Given the description of an element on the screen output the (x, y) to click on. 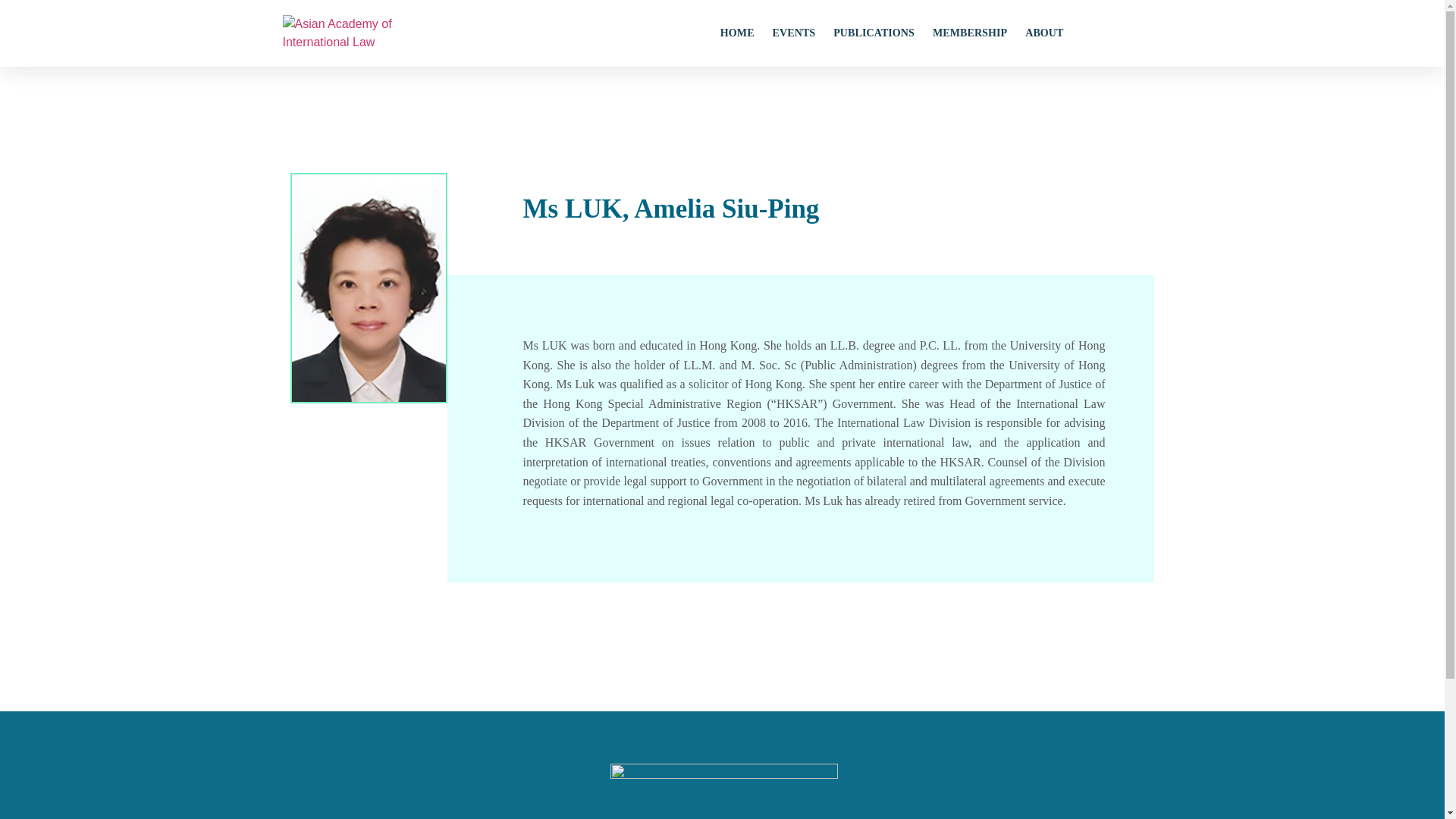
EVENTS (794, 33)
ABOUT (1043, 33)
MEMBERSHIP (970, 33)
PUBLICATIONS (873, 33)
